Given the description of an element on the screen output the (x, y) to click on. 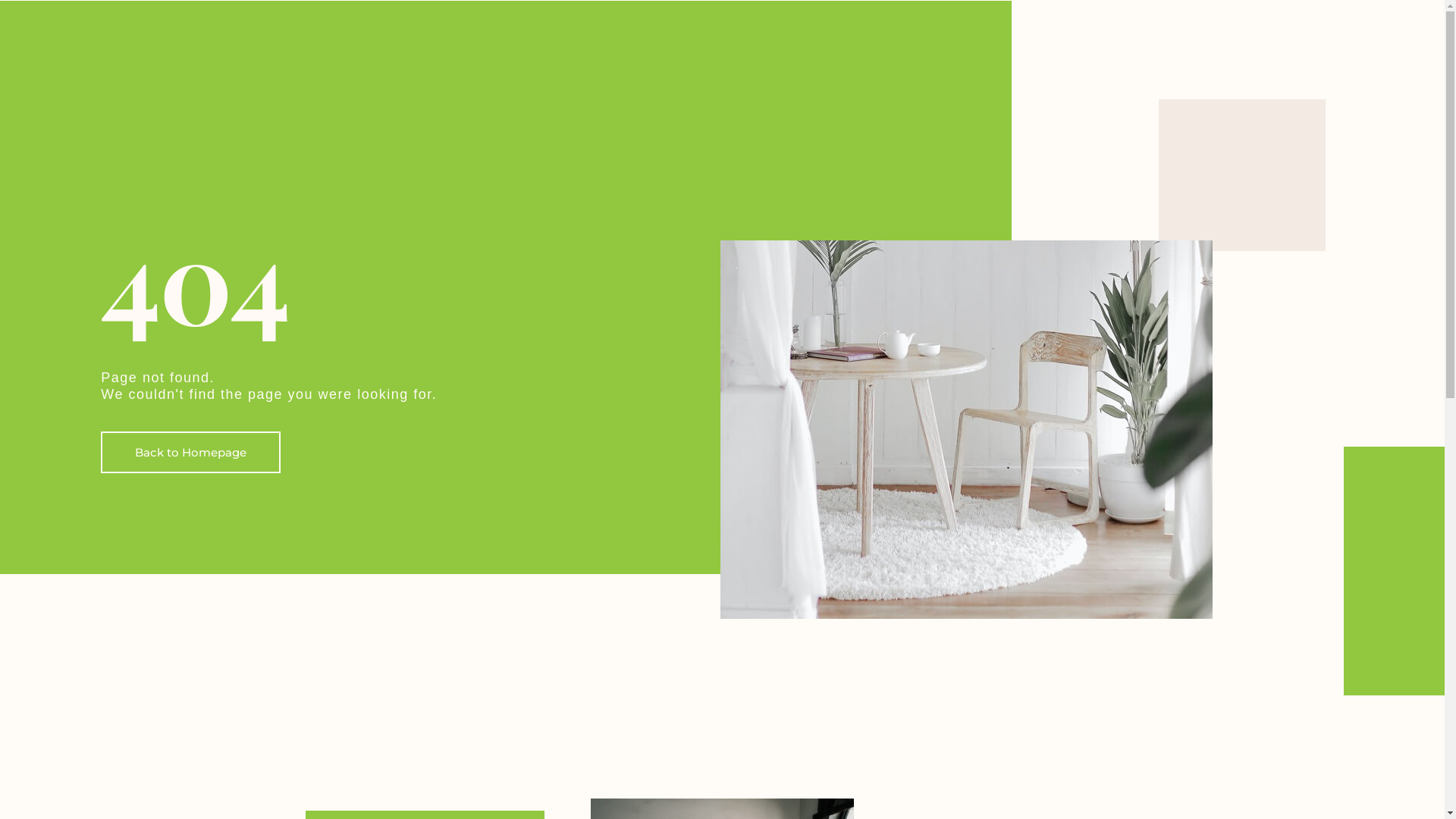
Back to Homepage Element type: text (190, 452)
Skip to content Element type: text (11, 31)
